Given the description of an element on the screen output the (x, y) to click on. 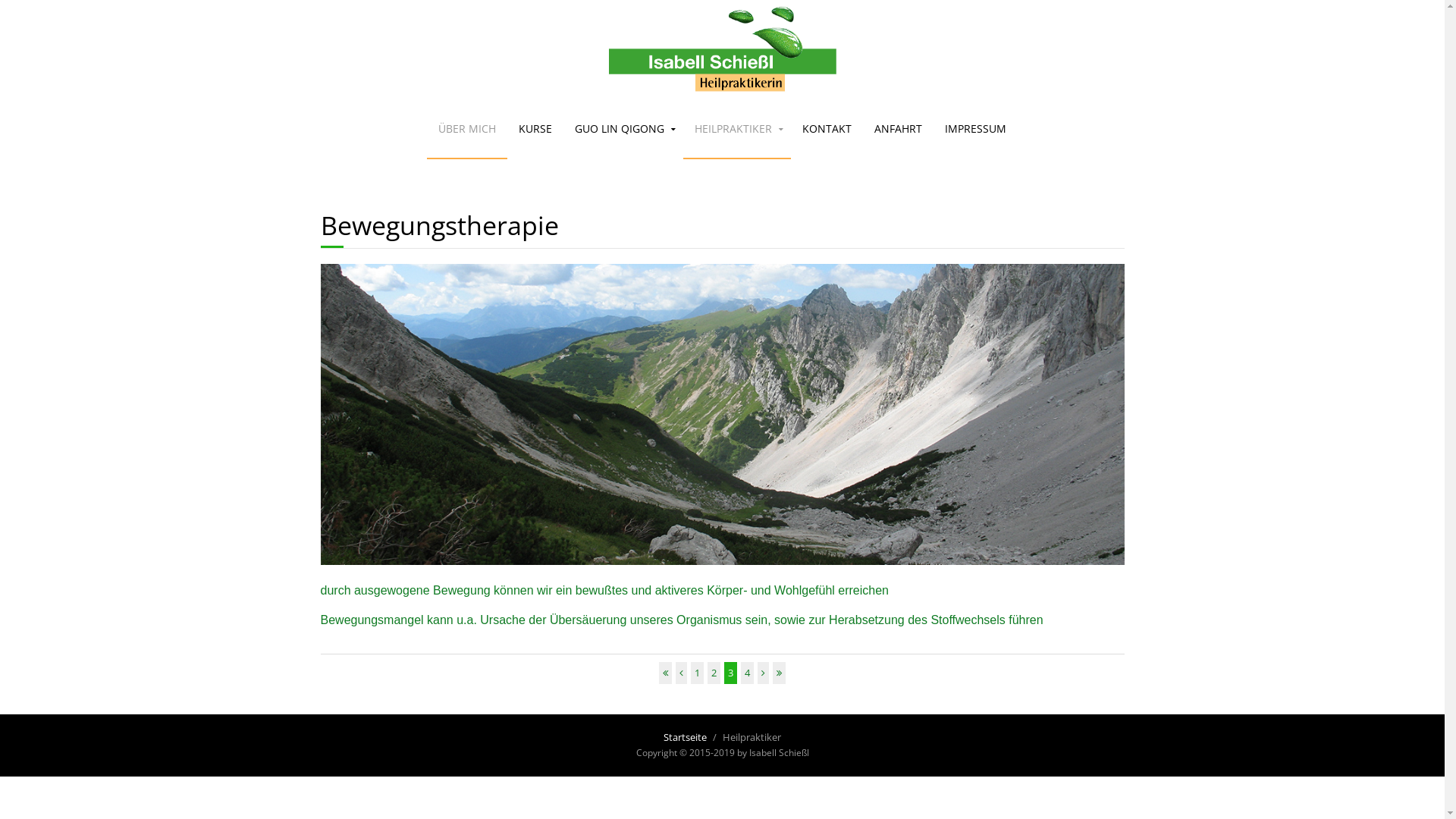
Bewegungstherapie Element type: text (439, 224)
Startseite Element type: text (684, 736)
Start Element type: hover (664, 673)
GUO LIN QIGONG Element type: text (623, 128)
Weiter Element type: hover (762, 673)
4 Element type: text (746, 673)
KURSE Element type: text (535, 128)
HEILPRAKTIKER Element type: text (736, 128)
ANFAHRT Element type: text (897, 128)
2 Element type: text (713, 673)
1 Element type: text (696, 673)
Ende Element type: hover (778, 673)
KONTAKT Element type: text (826, 128)
IMPRESSUM Element type: text (975, 128)
